Given the description of an element on the screen output the (x, y) to click on. 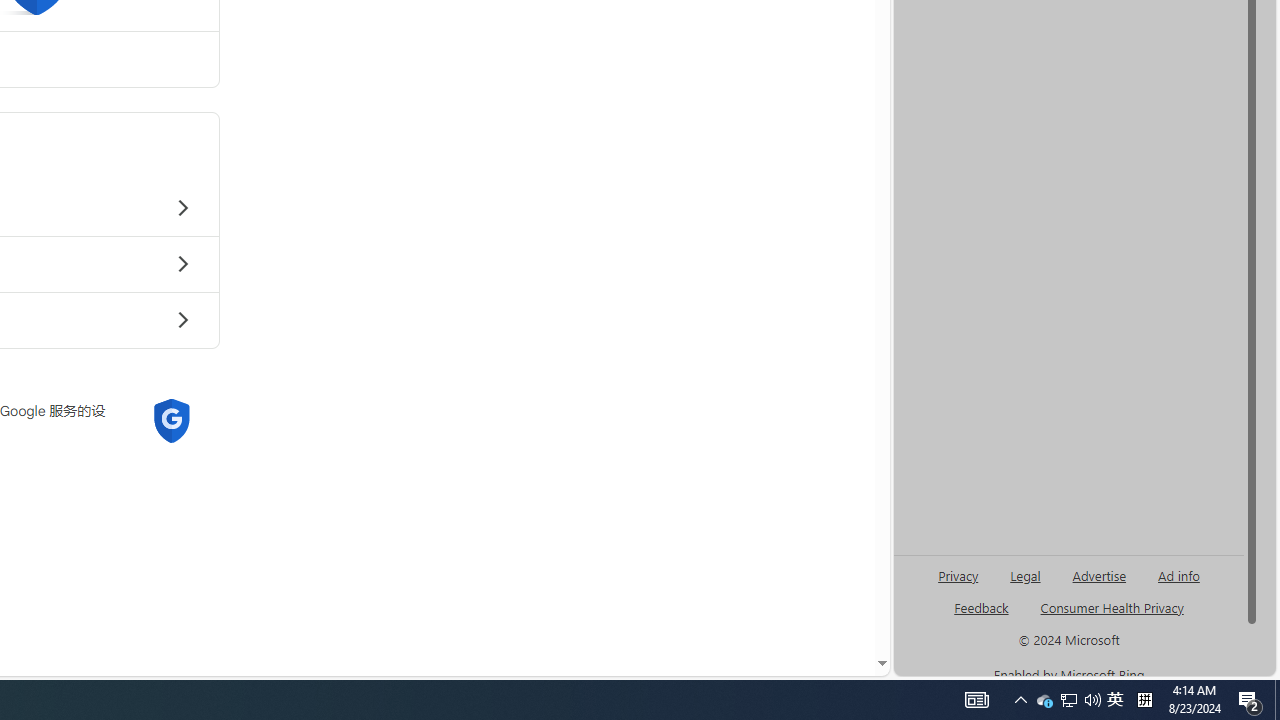
AutomationID: sb_feedback (980, 607)
AutomationID: genId96 (981, 615)
